Given the description of an element on the screen output the (x, y) to click on. 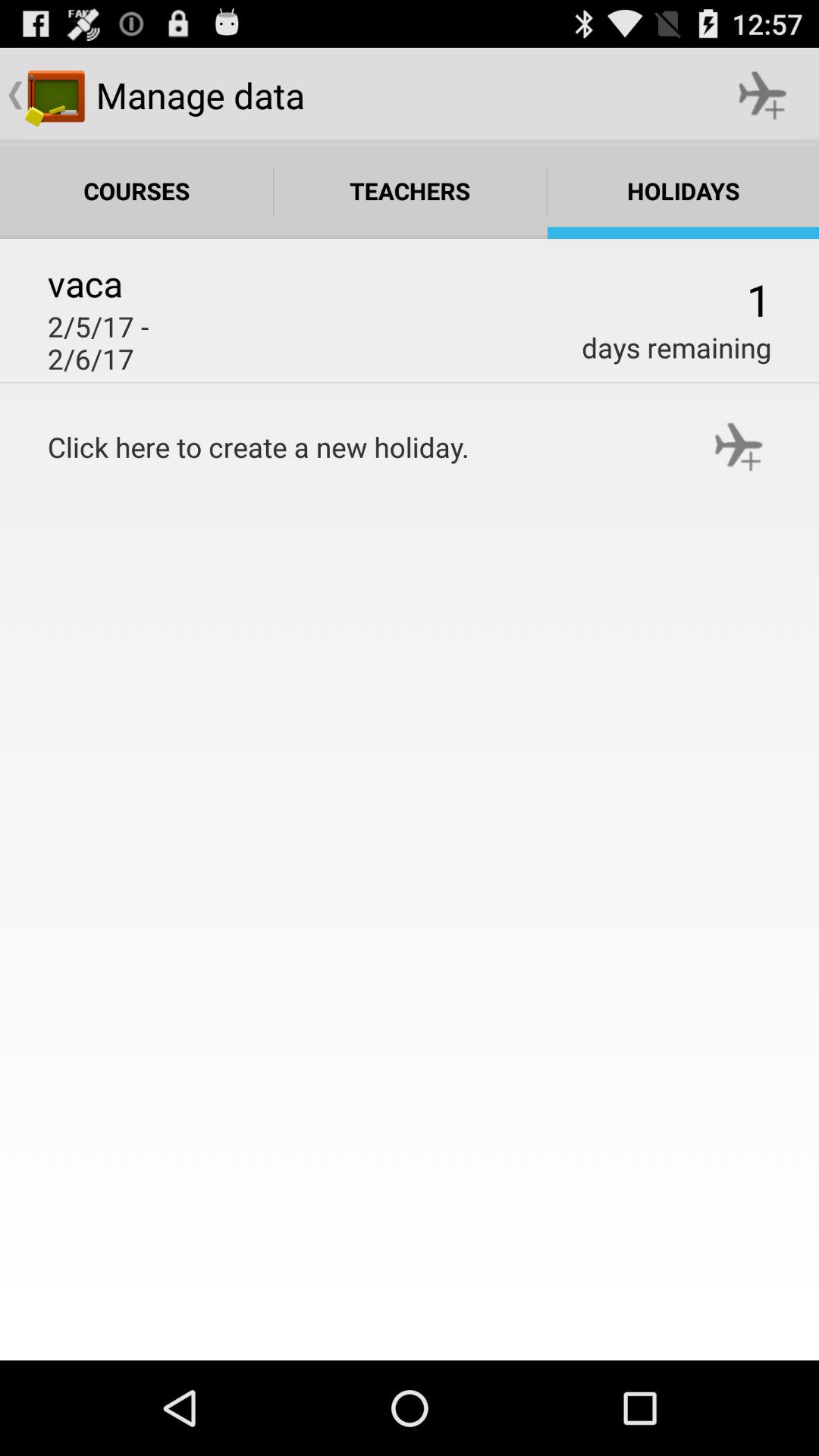
move to holidays tab (683, 190)
click on courses which is on the left side of teachers (136, 190)
click on teachers which is in between courses and holidays (410, 190)
